Given the description of an element on the screen output the (x, y) to click on. 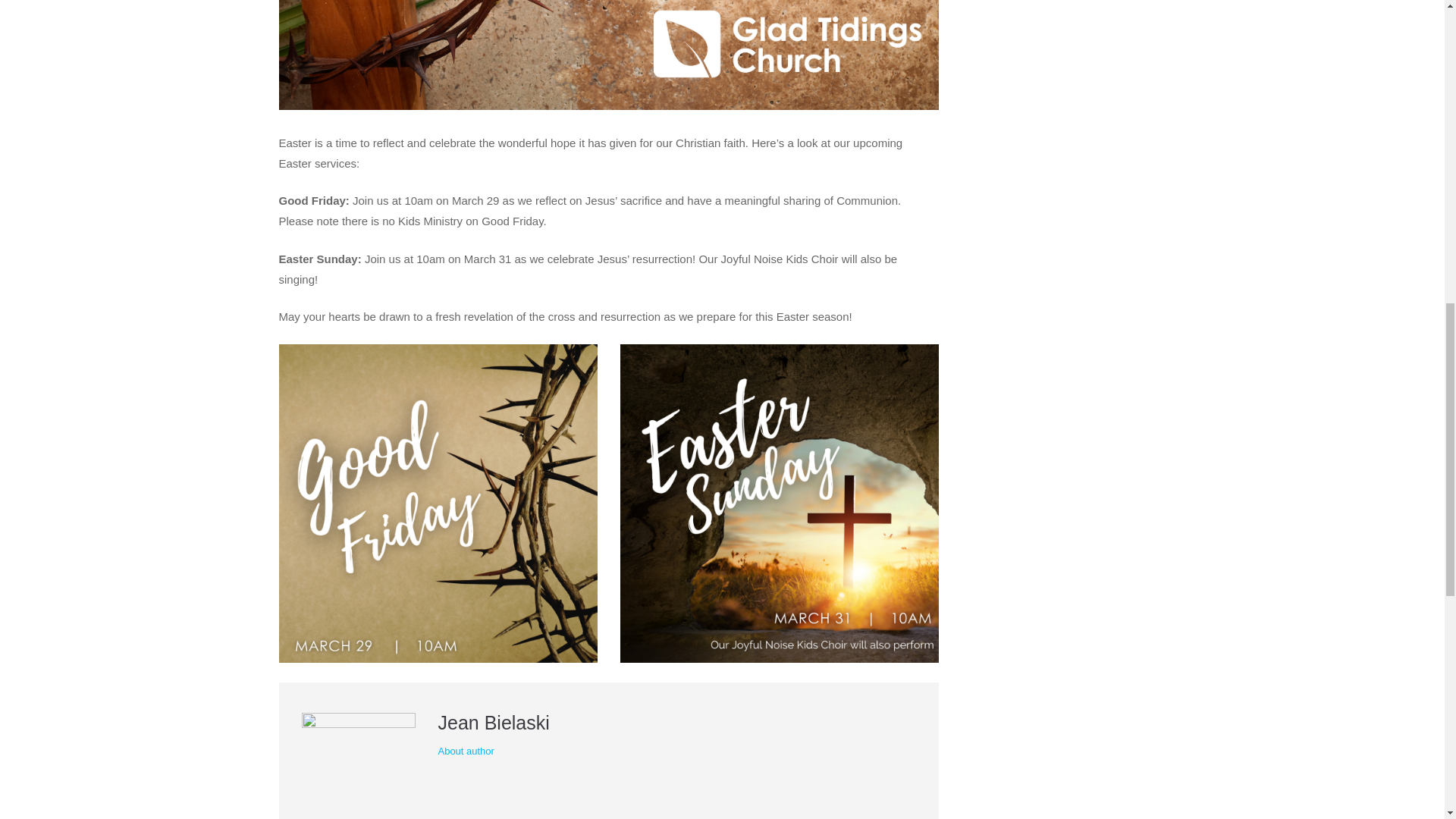
Easter Services 2024 (609, 54)
